Given the description of an element on the screen output the (x, y) to click on. 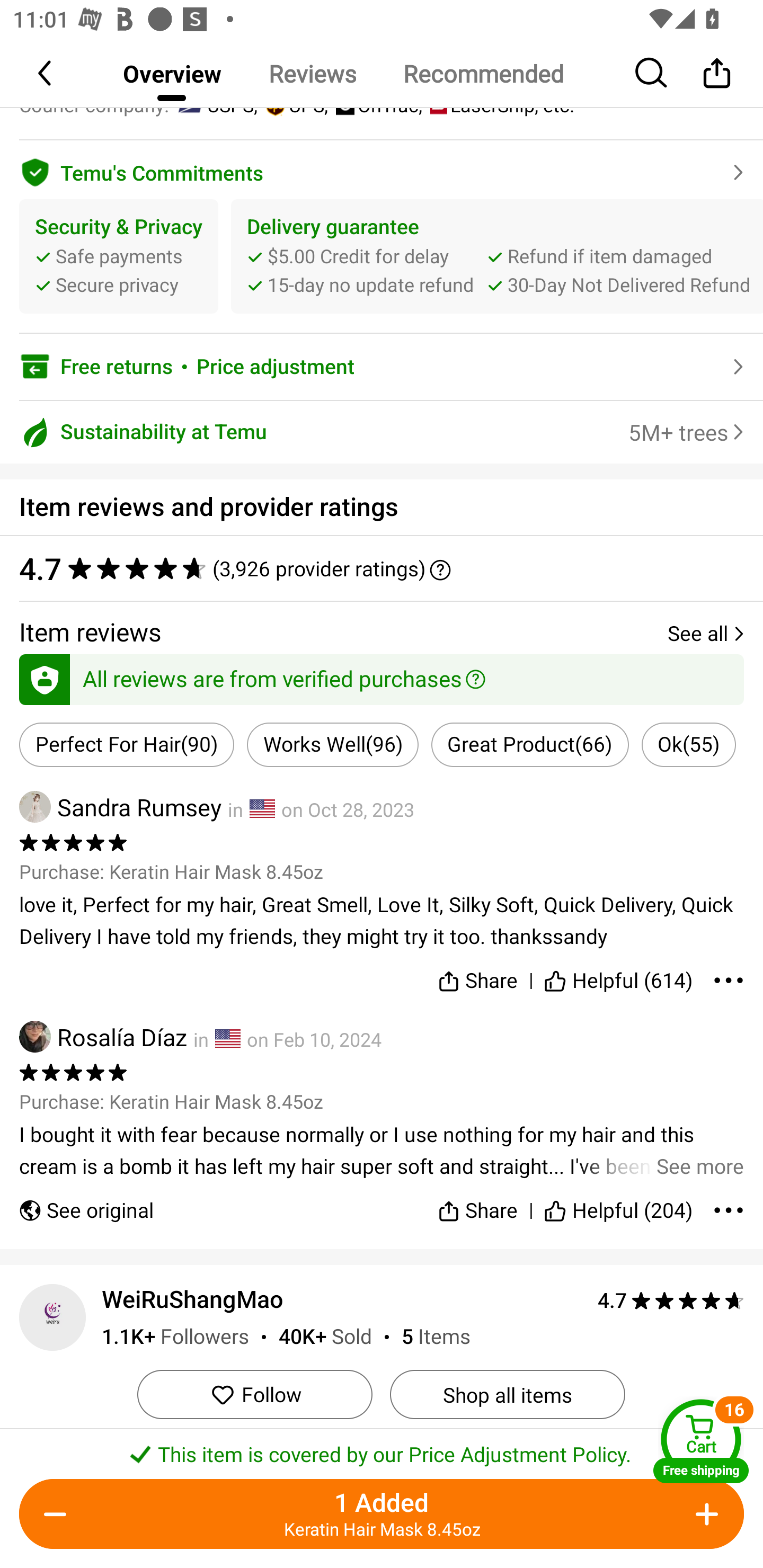
Overview (171, 72)
Reviews (311, 72)
Recommended (482, 72)
Back (46, 72)
Share (716, 72)
Temu's Commitments (381, 170)
Security & Privacy Safe payments Secure privacy (118, 256)
Free returns￼Price adjustment (381, 366)
Sustainability at Temu 5M+ trees (381, 432)
4.7 ‪(3,926 provider ratings) (381, 568)
All reviews are from verified purchases  (381, 676)
Perfect For Hair(90) (126, 744)
Works Well(96) (332, 744)
Great Product(66) (529, 744)
Ok(55) (688, 744)
Sandra Rumsey (120, 806)
  Share (477, 976)
  Helpful (614) (618, 976)
Rosalía Díaz (102, 1036)
See more (381, 1150)
  See original (86, 1202)
  Share (477, 1202)
  Helpful (204) (618, 1202)
  Follow (254, 1394)
Shop all items (506, 1394)
Cart Free shipping Cart (701, 1440)
Decrease Quantity Button (59, 1513)
Add Quantity button (703, 1513)
